Given the description of an element on the screen output the (x, y) to click on. 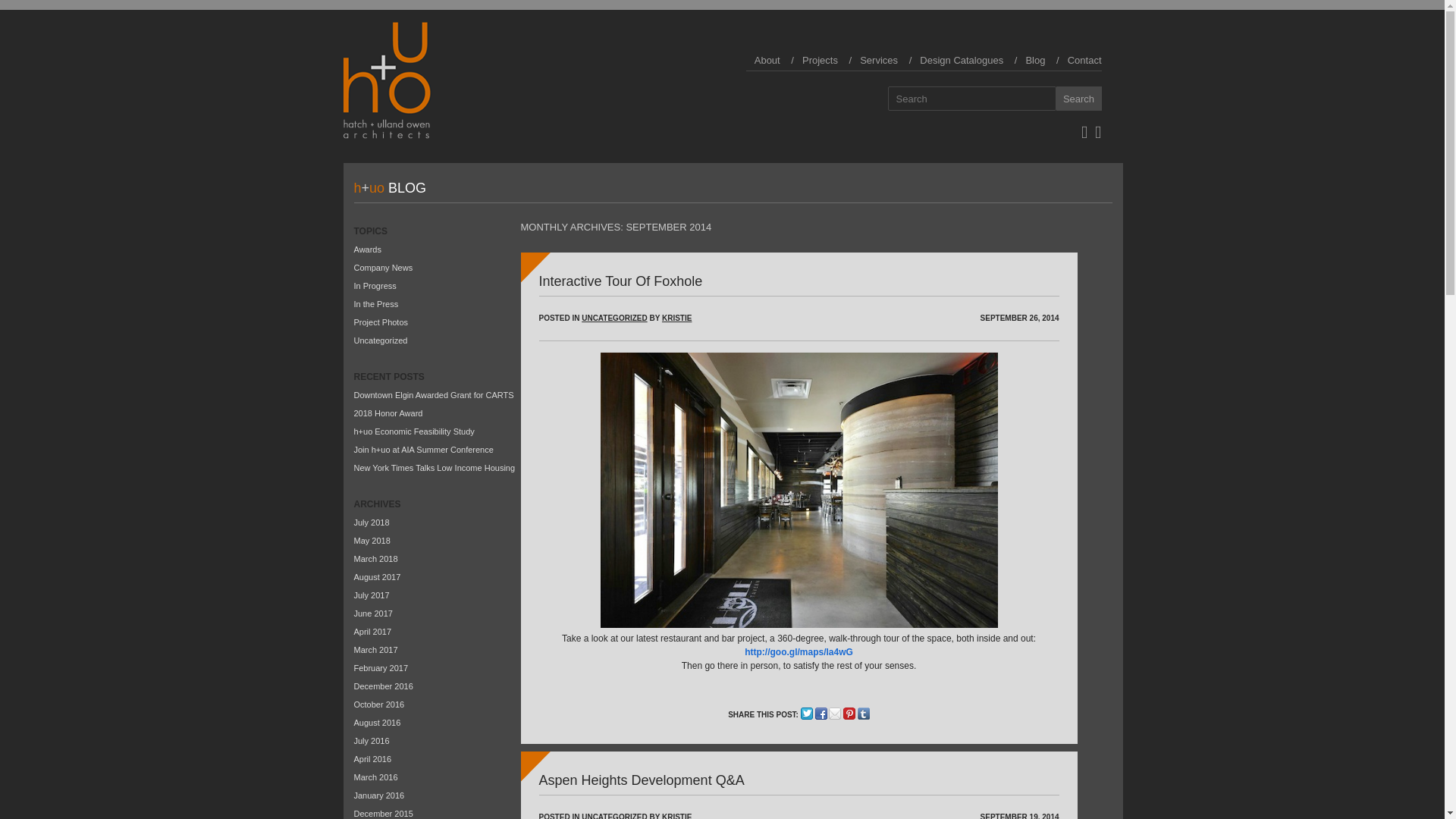
March 2017 (375, 649)
Blog (1034, 60)
Search (1077, 98)
Company News (382, 266)
January 2016 (378, 795)
February 2017 (380, 667)
July 2016 (370, 740)
Awards (366, 248)
In Progress (374, 285)
New York Times Talks Low Income Housing (434, 467)
About (767, 60)
Services (878, 60)
August 2017 (376, 576)
March 2016 (375, 777)
Search (1077, 98)
